Given the description of an element on the screen output the (x, y) to click on. 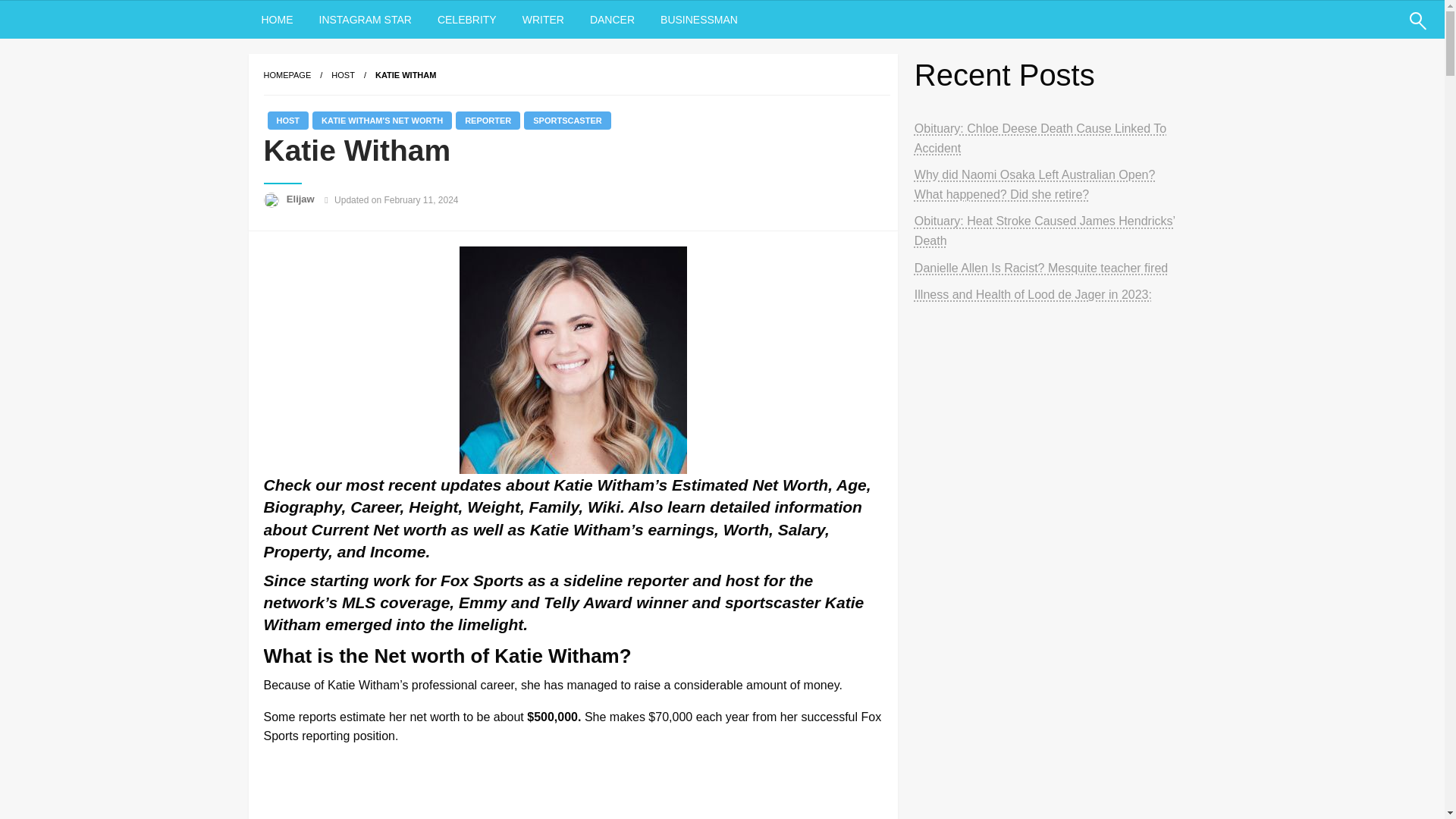
HOST (343, 74)
WRITER (542, 19)
REPORTER (487, 120)
Homepage (287, 74)
SPORTSCASTER (567, 120)
DANCER (611, 19)
CELEBRITY (467, 19)
KATIE WITHAM'S NET WORTH (382, 120)
host (343, 74)
Katie Witham (405, 74)
